Given the description of an element on the screen output the (x, y) to click on. 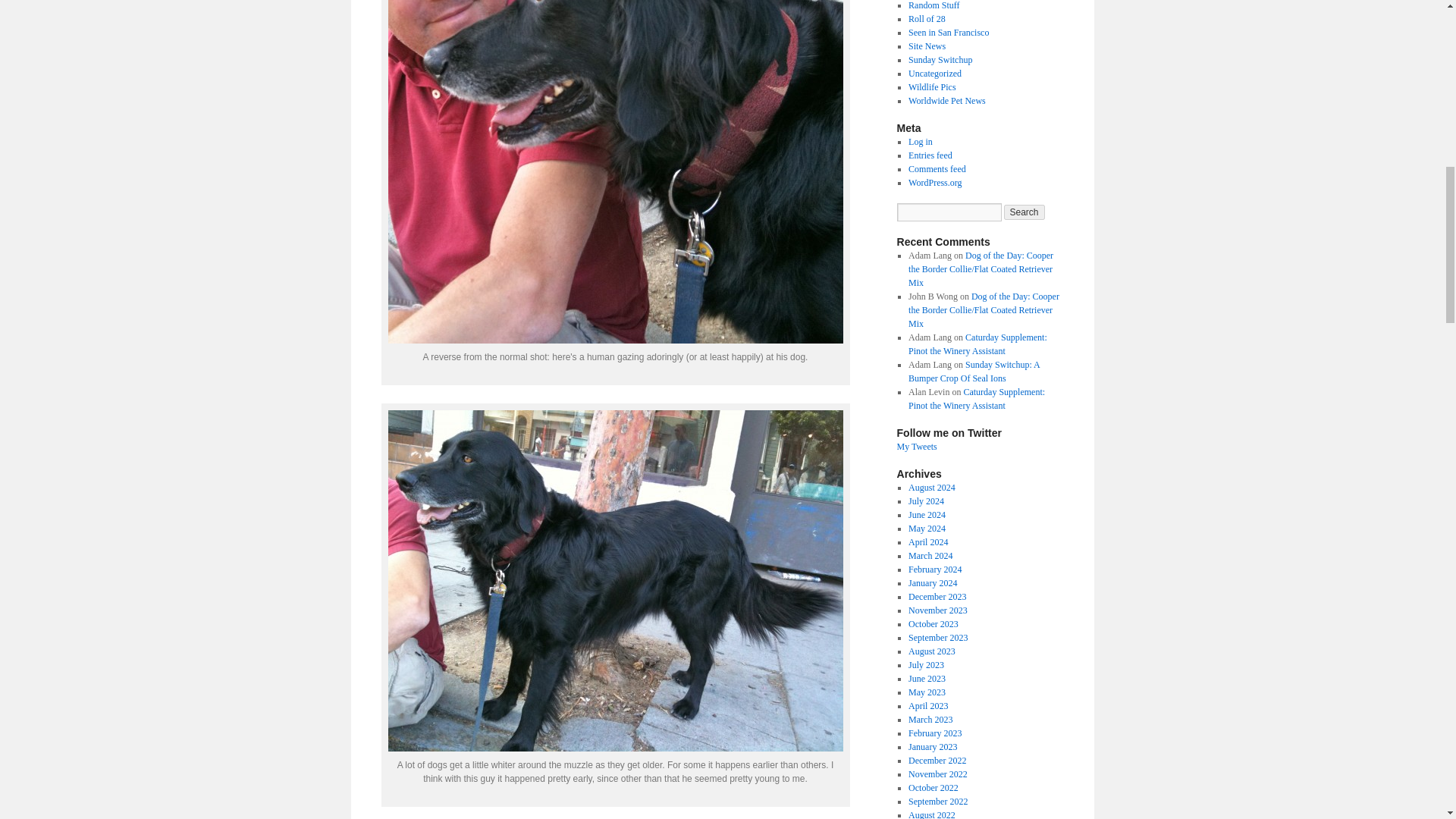
Search (1024, 212)
